Given the description of an element on the screen output the (x, y) to click on. 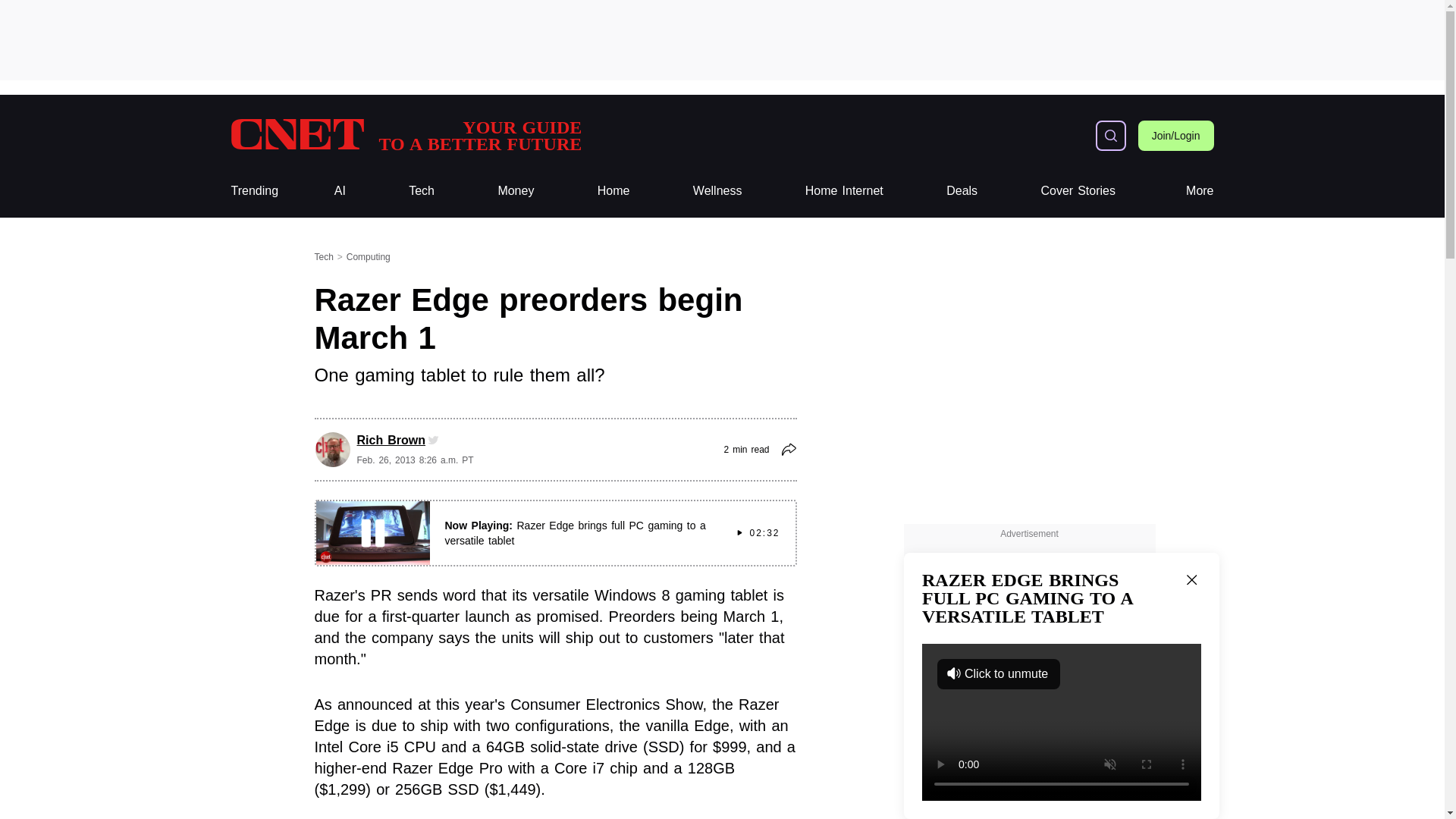
Tech (421, 190)
Home (613, 190)
Home Internet (844, 190)
Home Internet (844, 190)
Wellness (717, 190)
Tech (421, 190)
3rd party ad content (721, 39)
Money (515, 190)
Trending (254, 190)
Deals (961, 190)
More (1199, 190)
Home (613, 190)
Trending (254, 190)
Cover Stories (1078, 190)
